Given the description of an element on the screen output the (x, y) to click on. 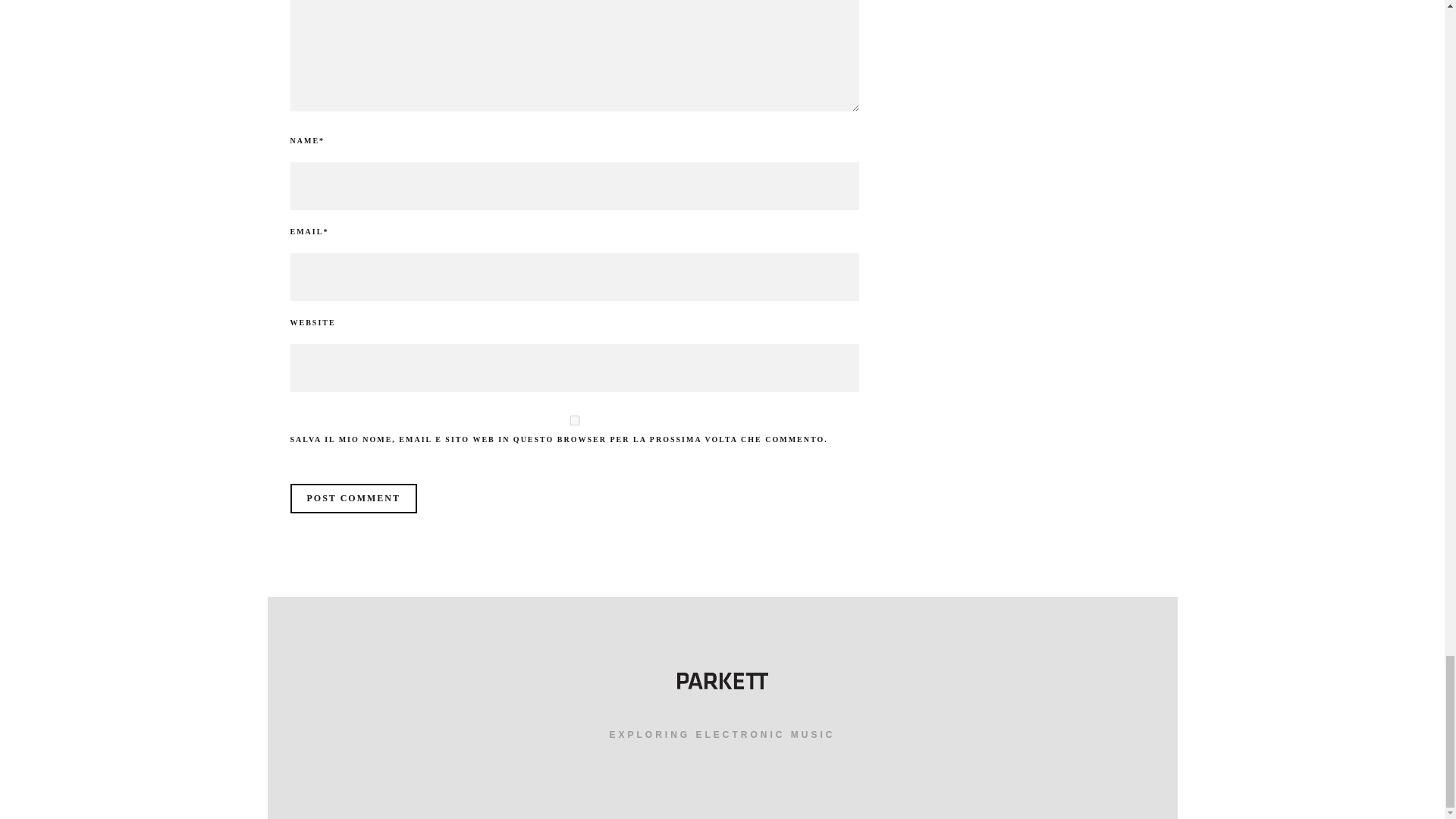
Post Comment (352, 498)
yes (574, 420)
